Given the description of an element on the screen output the (x, y) to click on. 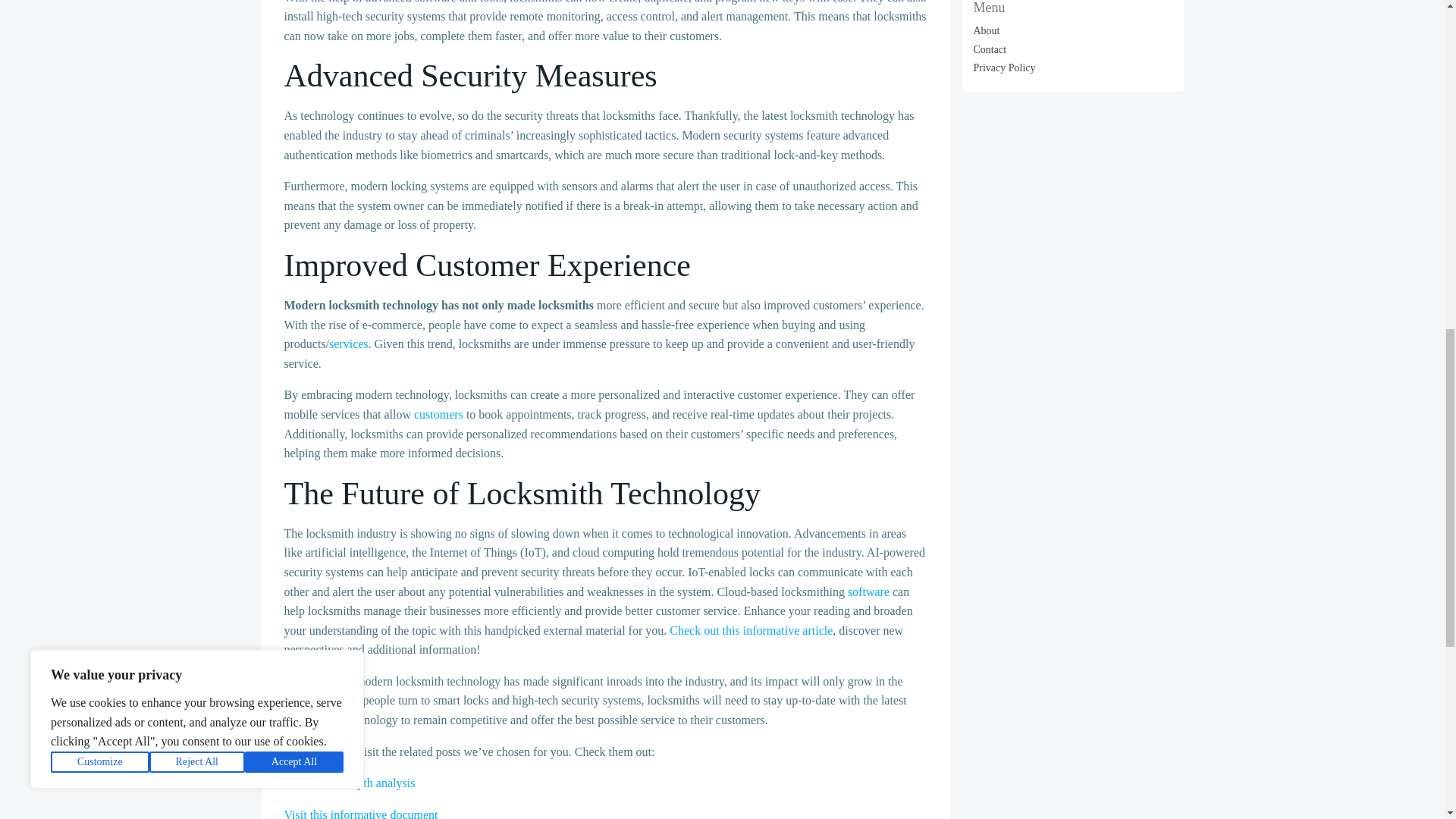
Visit this informative document (360, 813)
software (868, 591)
customers (438, 413)
services (348, 343)
Check out this informative article (750, 630)
Read this in-depth analysis (348, 782)
